Given the description of an element on the screen output the (x, y) to click on. 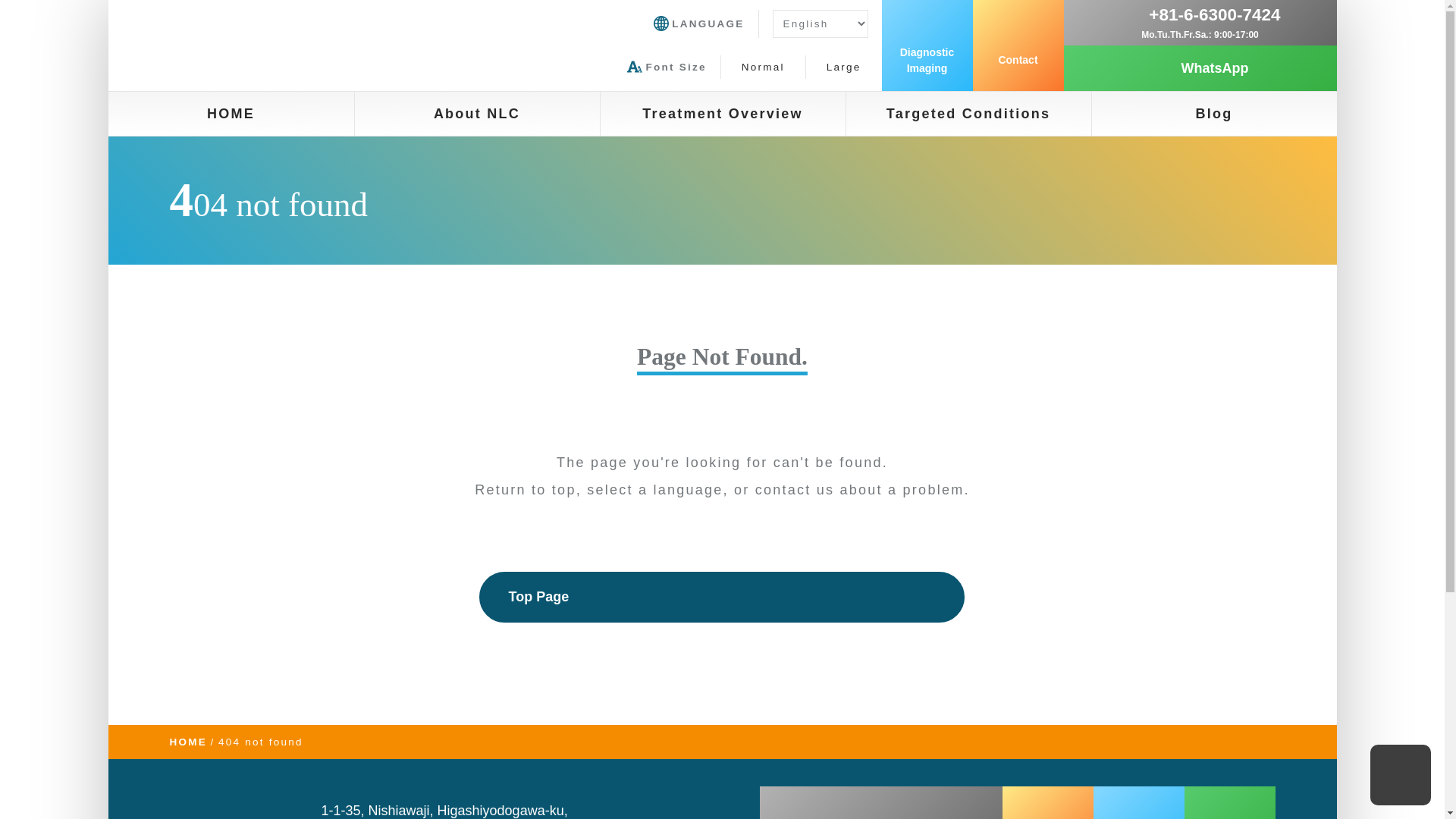
Diagnostic Imaging (926, 45)
About NLC (477, 113)
WhatsApp (1199, 67)
HOME (230, 113)
Treatment Overview (722, 113)
Large (843, 67)
Contact (1017, 45)
Targeted Conditions (967, 113)
Normal (763, 67)
Blog (1214, 113)
